Given the description of an element on the screen output the (x, y) to click on. 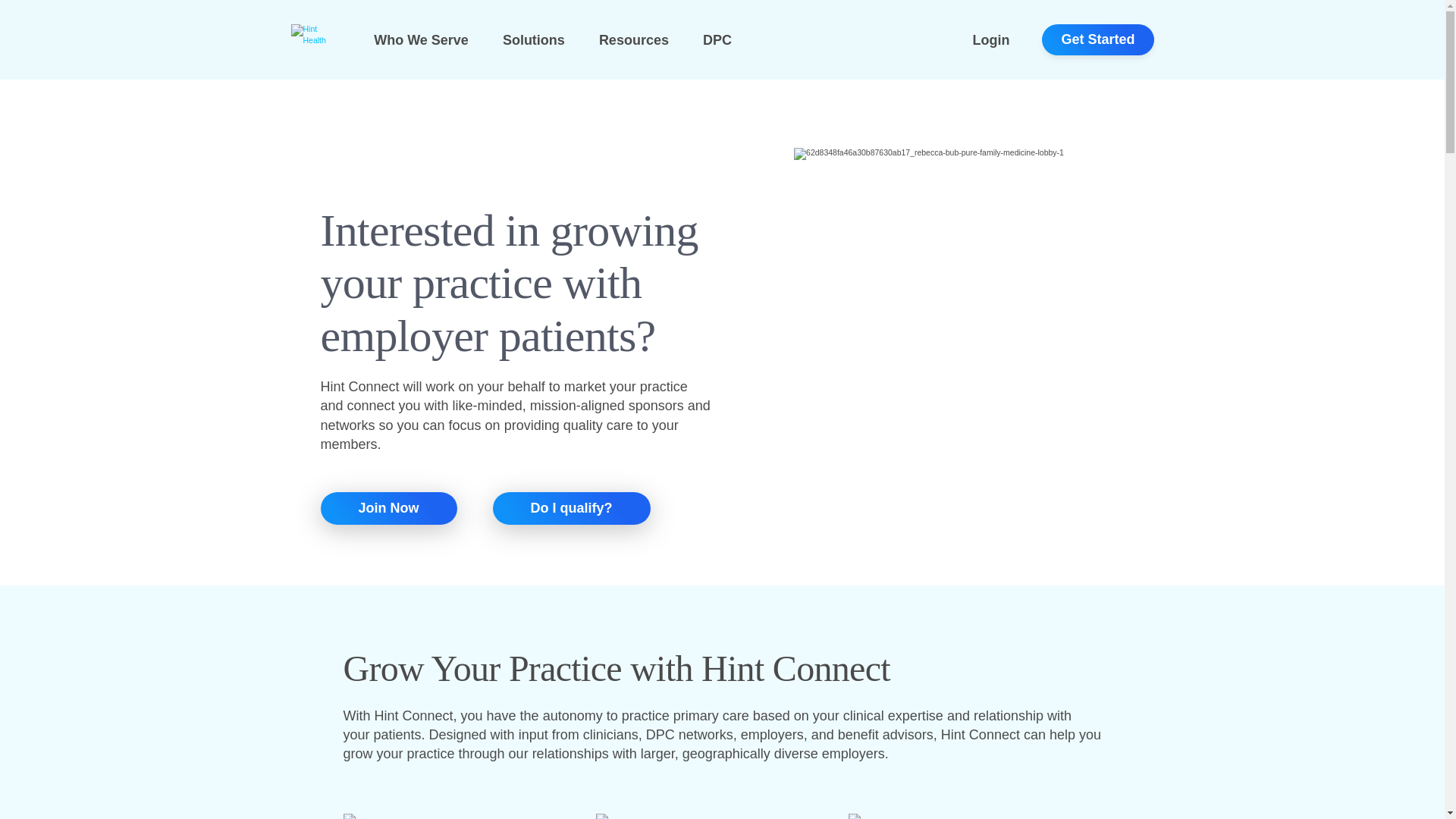
Resources (633, 39)
Solutions (533, 39)
Hint Health (315, 34)
Who We Serve (421, 39)
